Given the description of an element on the screen output the (x, y) to click on. 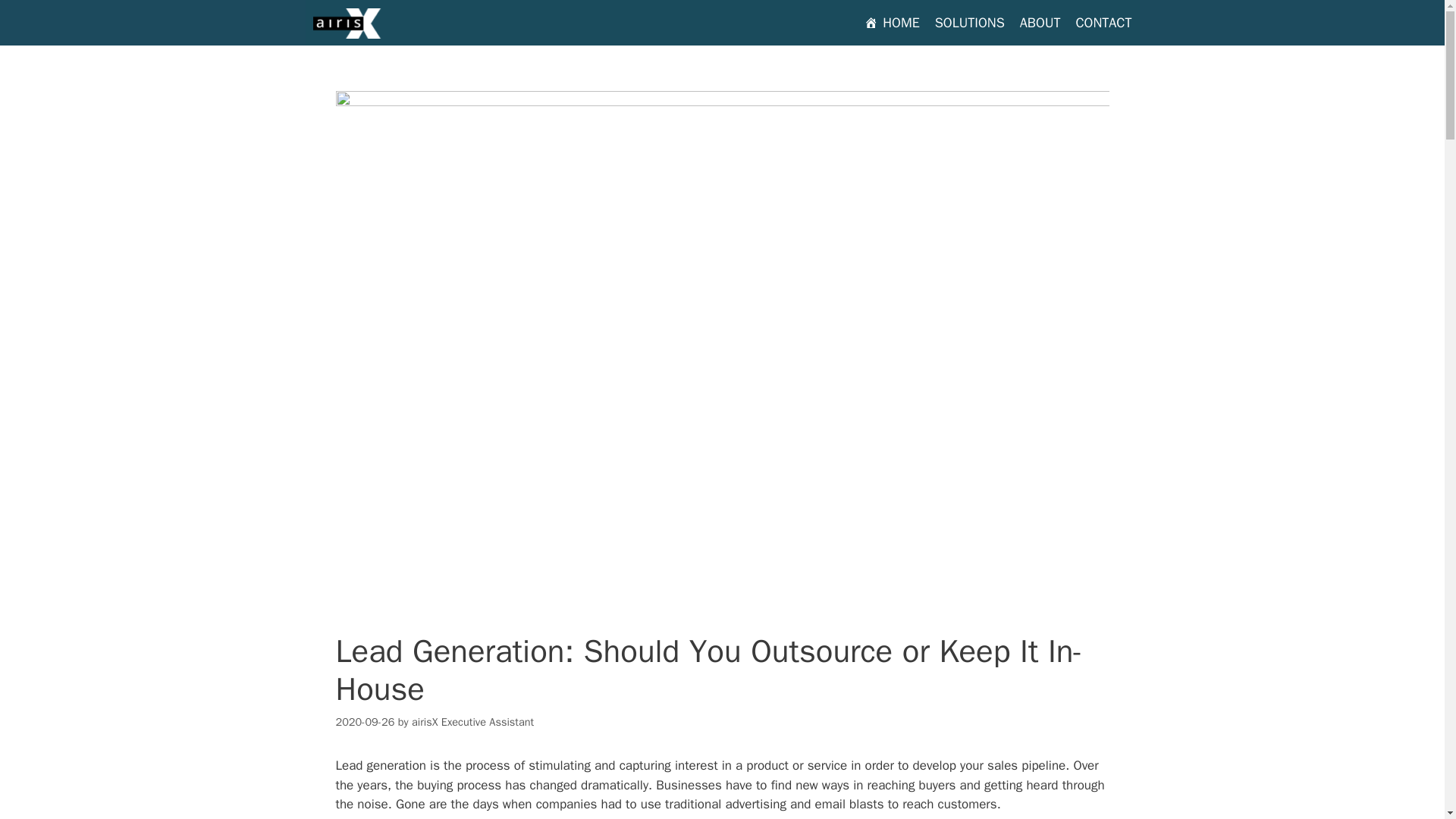
ABOUT (1039, 22)
SOLUTIONS (969, 22)
View all posts by airisX Executive Assistant (473, 721)
airisX Executive Assistant (473, 721)
CONTACT (1102, 22)
HOME (892, 22)
